Given the description of an element on the screen output the (x, y) to click on. 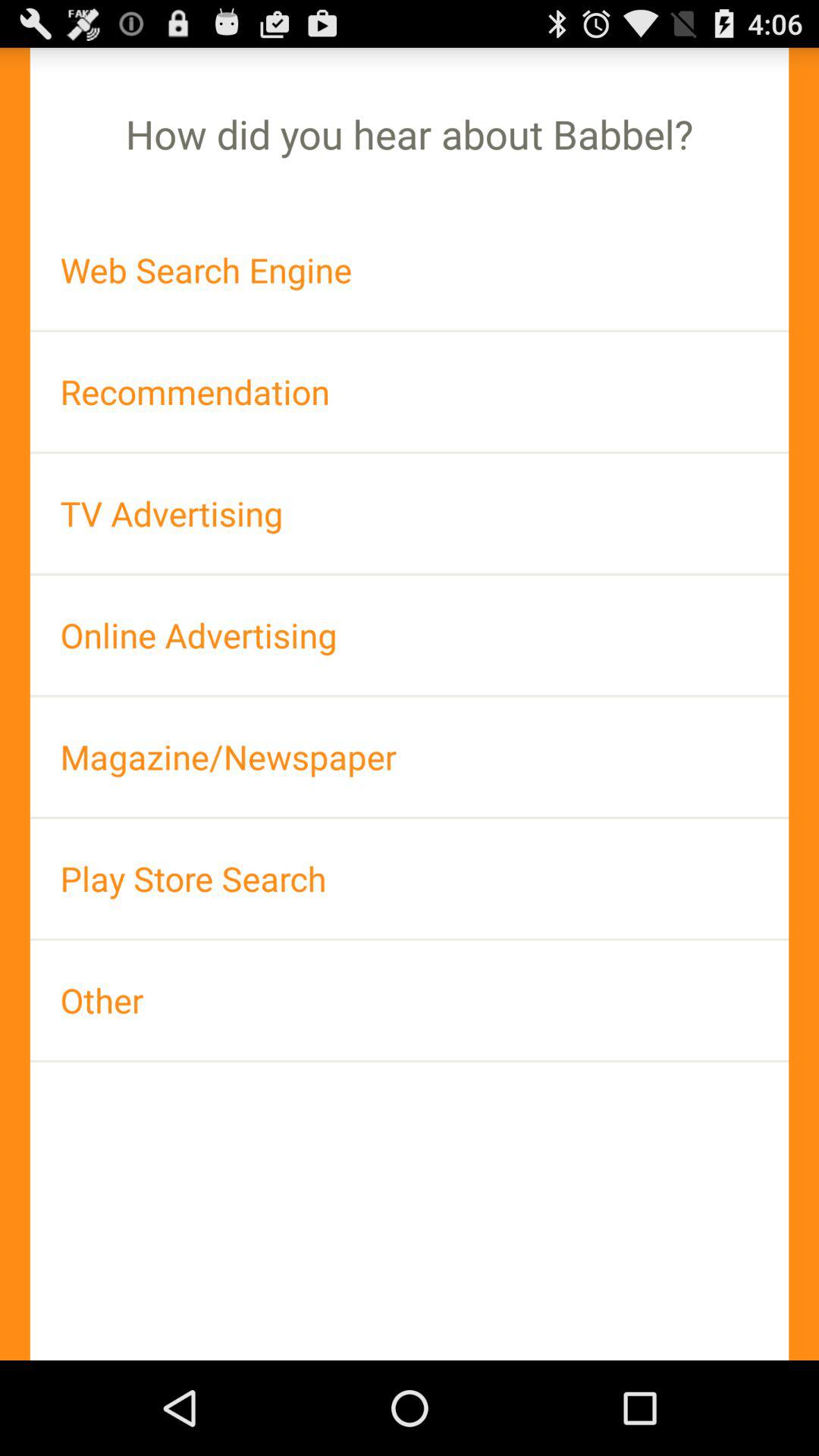
click item below how did you (409, 269)
